Given the description of an element on the screen output the (x, y) to click on. 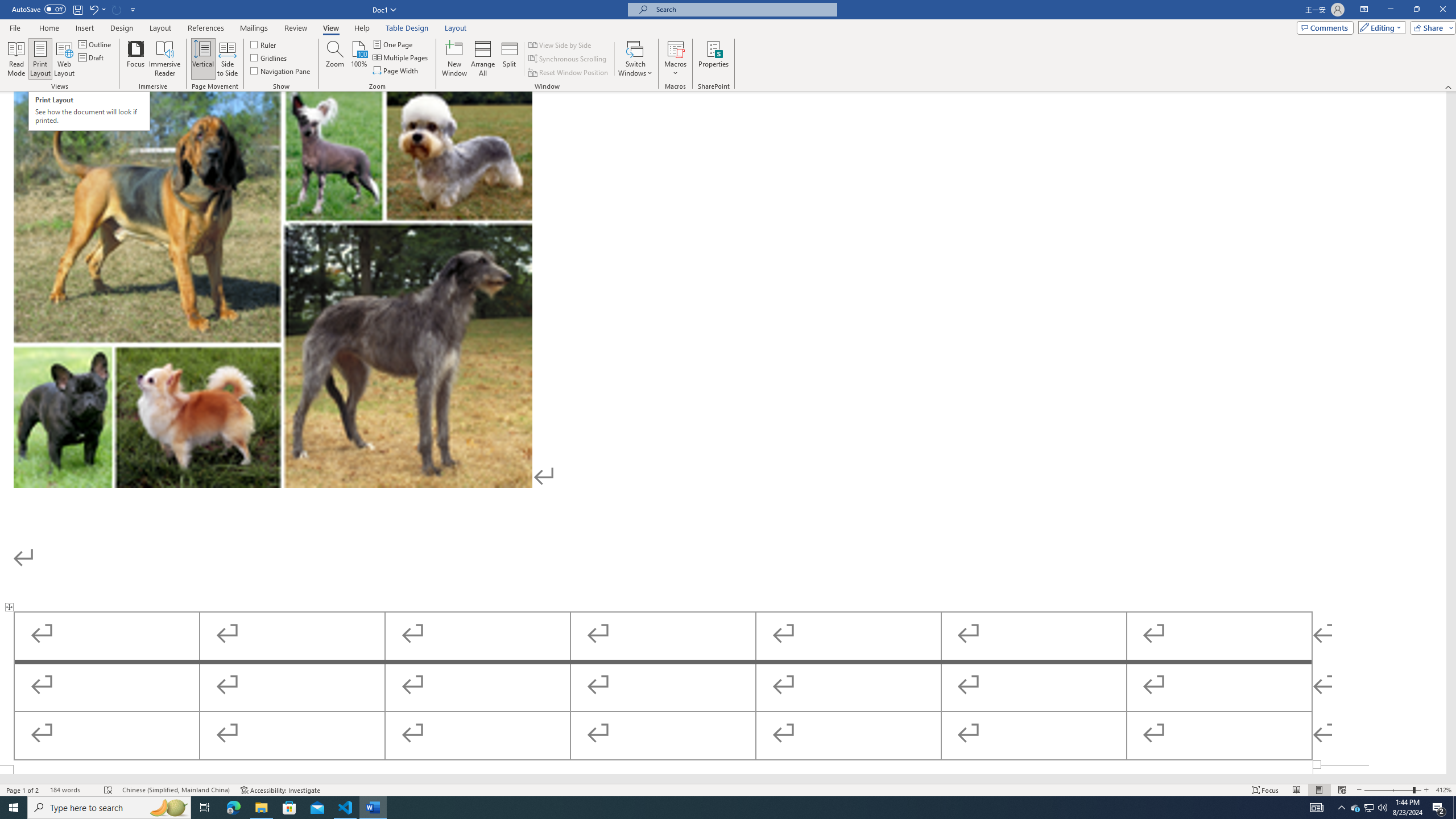
Synchronous Scrolling (568, 58)
Undo Row Height Spinner (96, 9)
Gridlines (269, 56)
Vertical (202, 58)
New Window (454, 58)
Side to Side (226, 58)
One Page (393, 44)
